Given the description of an element on the screen output the (x, y) to click on. 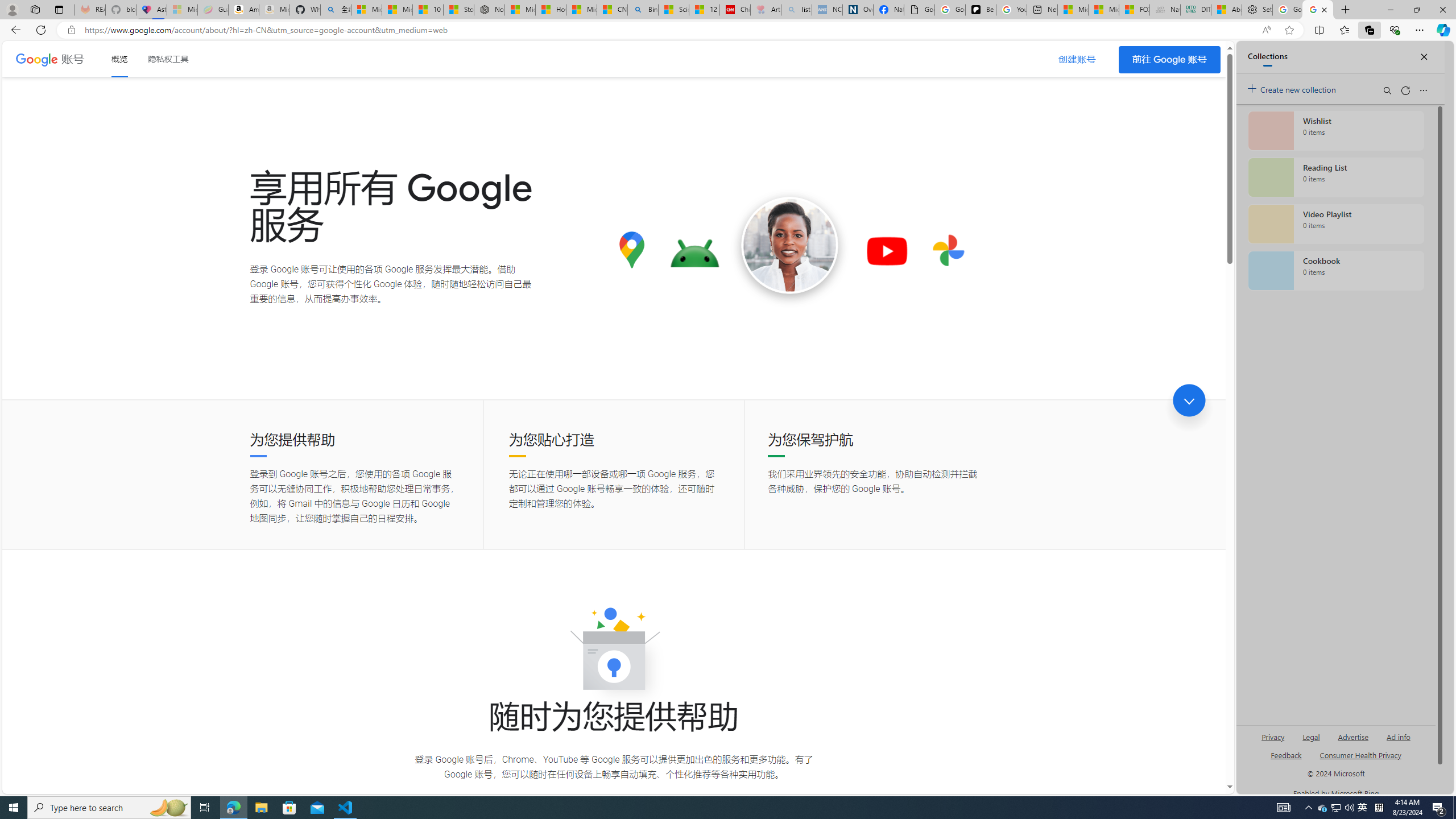
Bing (642, 9)
Asthma Inhalers: Names and Types (151, 9)
Arthritis: Ask Health Professionals - Sleeping (765, 9)
12 Popular Science Lies that Must be Corrected (704, 9)
